Given the description of an element on the screen output the (x, y) to click on. 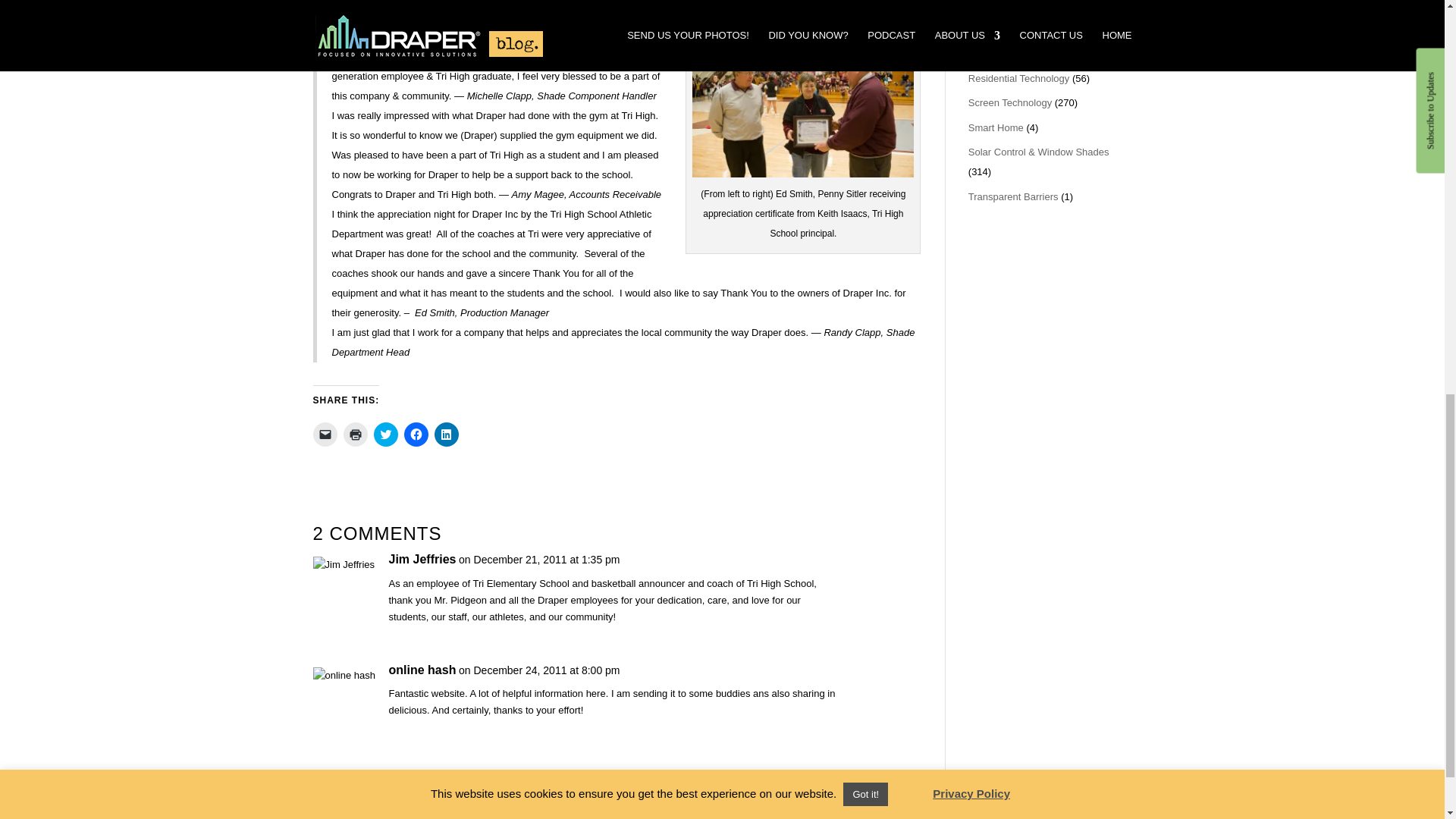
Click to email a link to a friend (324, 434)
Click to share on LinkedIn (445, 434)
Click to print (354, 434)
Click to share on Facebook (415, 434)
Click to share on Twitter (384, 434)
